Given the description of an element on the screen output the (x, y) to click on. 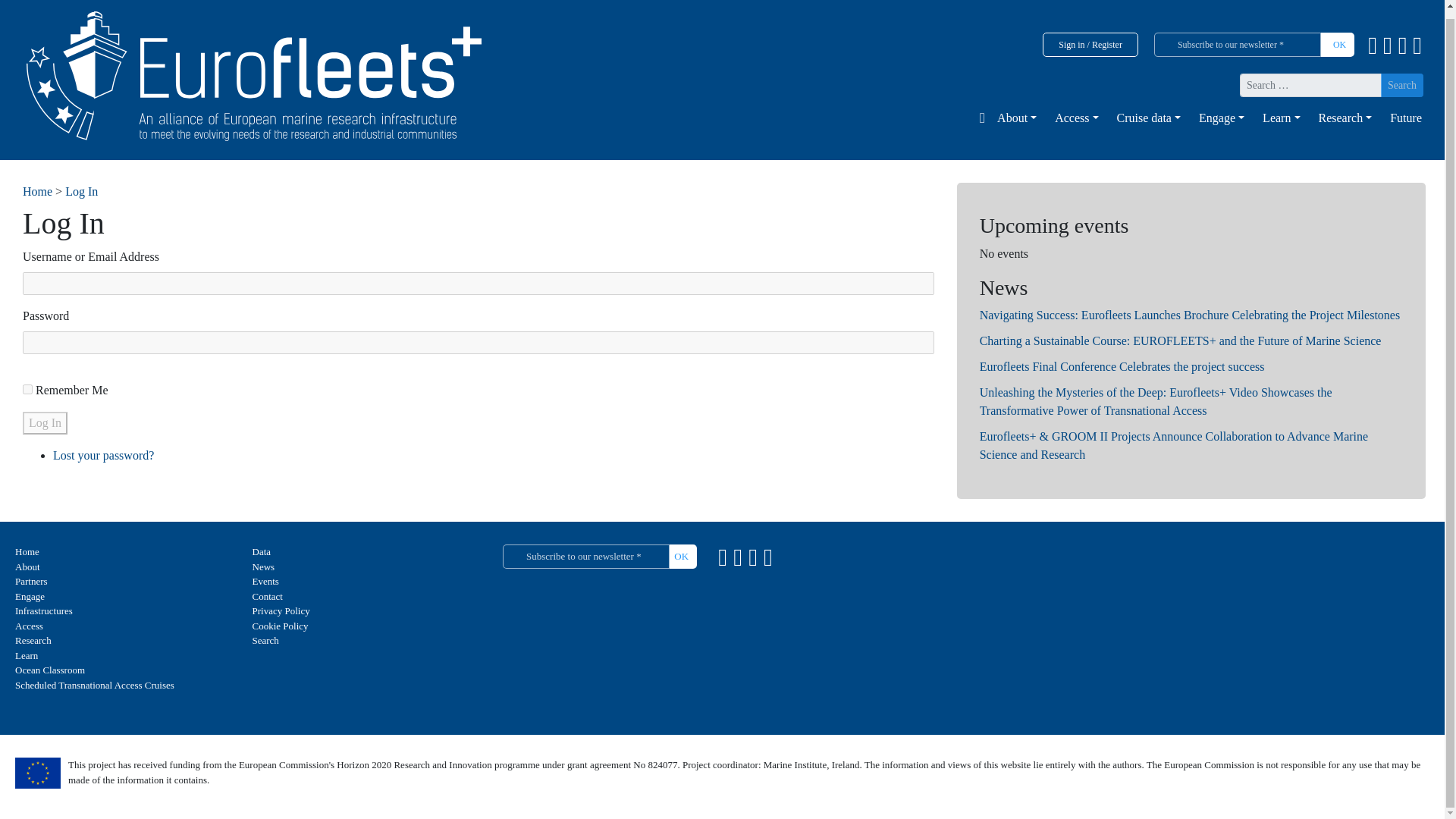
OK (1335, 44)
Access (1072, 118)
OK (1335, 44)
About (1013, 118)
Search (1401, 85)
Register (1107, 44)
Learn (1278, 118)
Cruise data (1146, 118)
Engage (1218, 118)
Sign in (1071, 44)
forever (27, 388)
Subscribe to our newsletter (1237, 44)
OK (677, 556)
About (1013, 118)
Access (1072, 118)
